Given the description of an element on the screen output the (x, y) to click on. 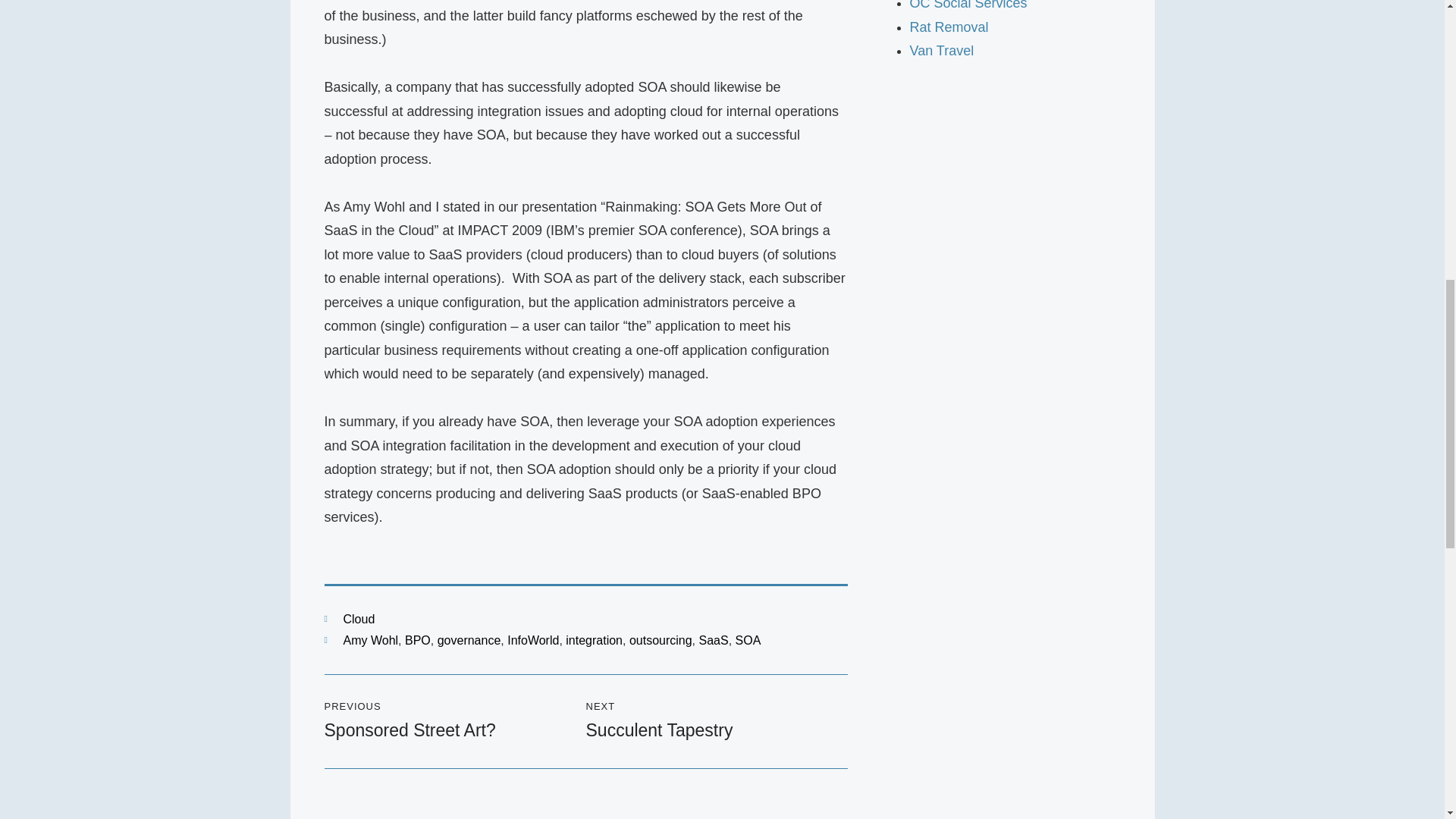
governance (469, 640)
Van Travel (942, 50)
BPO (417, 640)
OC Social Services (968, 5)
SOA (748, 640)
Amy Wohl (369, 640)
Rat Removal (949, 27)
SaaS (713, 640)
InfoWorld (532, 640)
integration (594, 640)
